Given the description of an element on the screen output the (x, y) to click on. 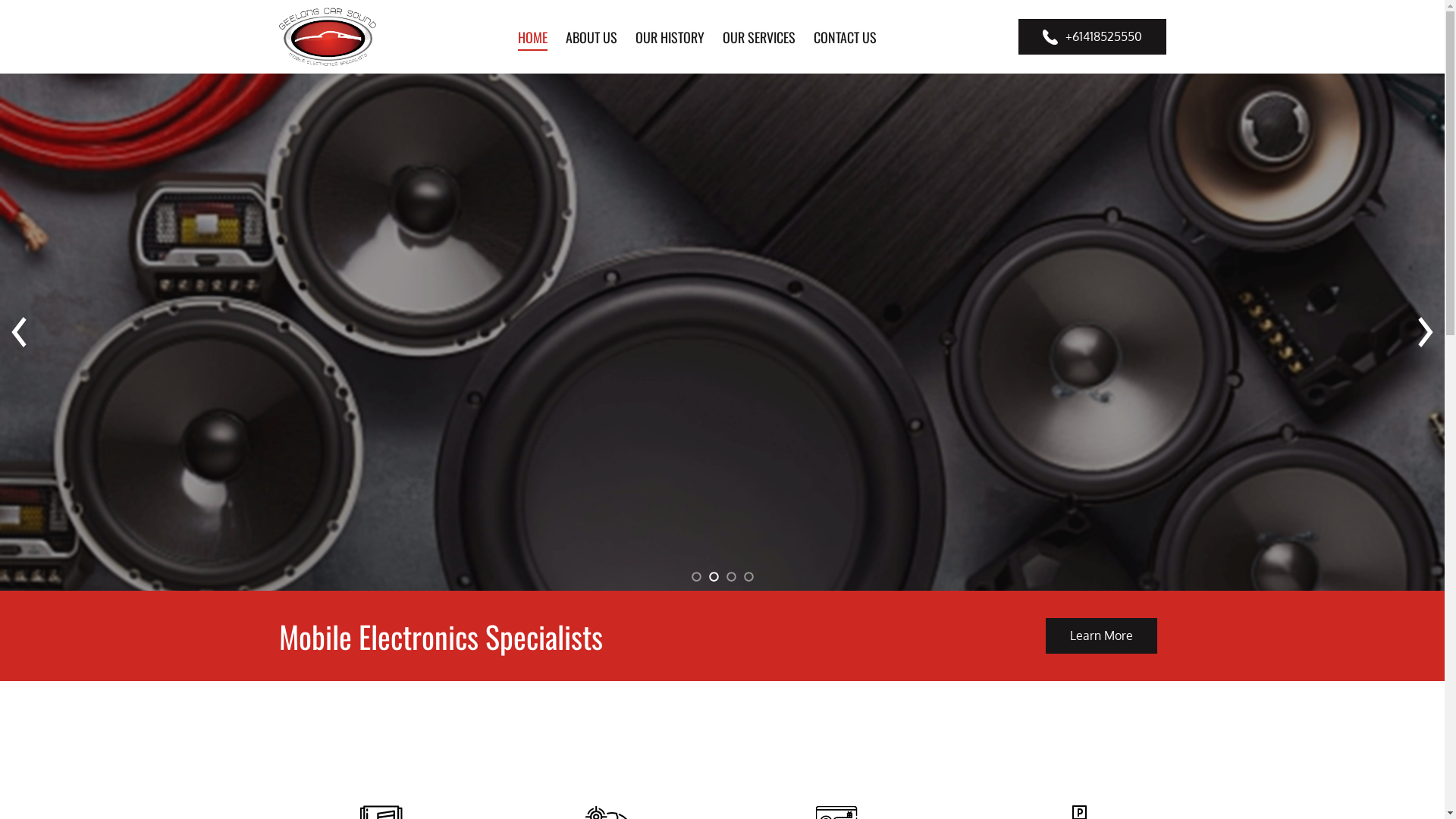
+61418525550 Element type: text (1091, 36)
HOME Element type: text (532, 36)
Learn More Element type: text (1101, 635)
CONTACT US Element type: text (844, 36)
ABOUT US Element type: text (590, 36)
OUR SERVICES Element type: text (758, 36)
OUR HISTORY Element type: text (669, 36)
